Given the description of an element on the screen output the (x, y) to click on. 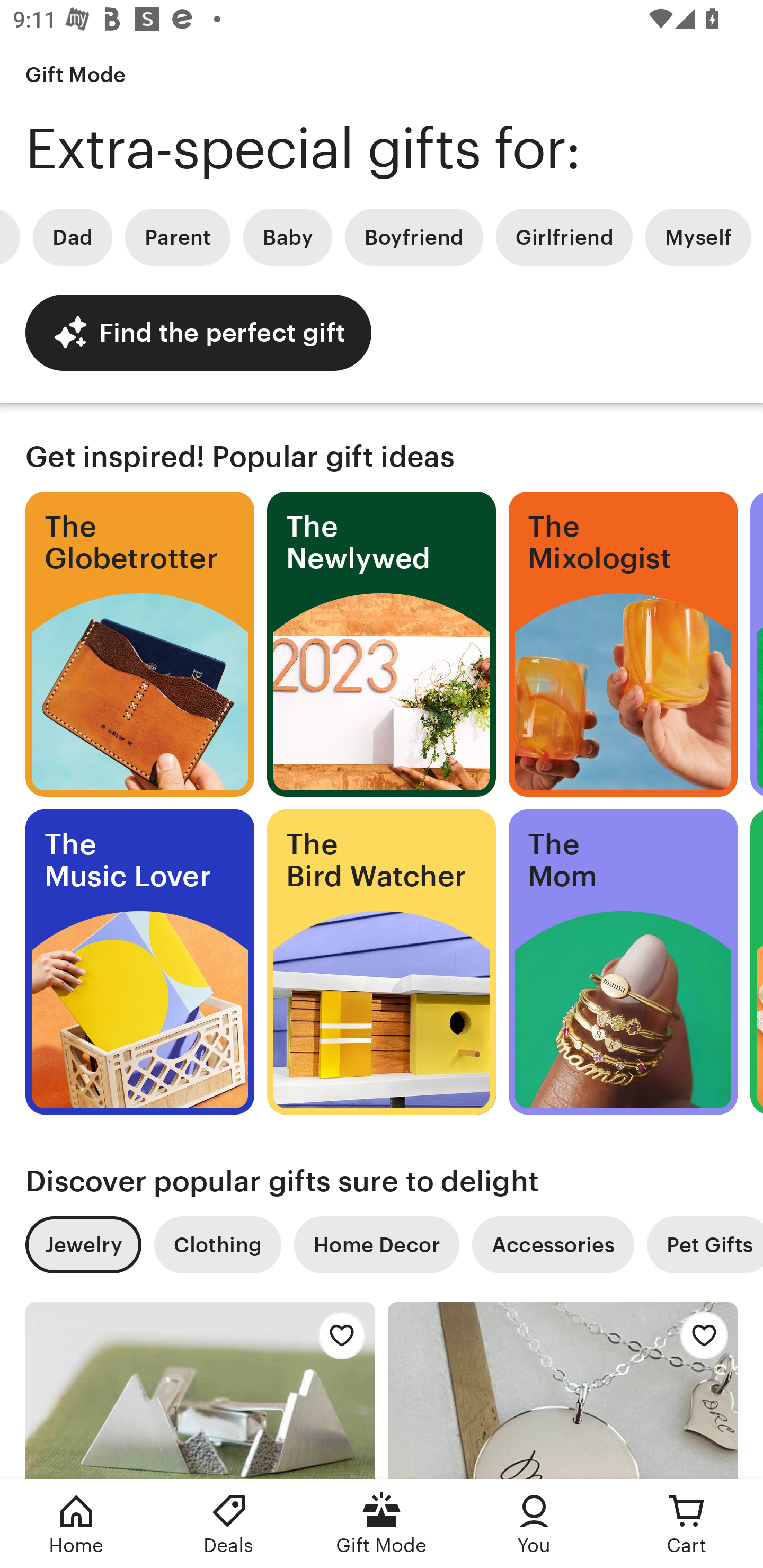
Dad (72, 237)
Parent (177, 237)
Baby (287, 237)
Boyfriend (413, 237)
Girlfriend (563, 237)
Myself (698, 237)
Find the perfect gift (198, 332)
The Globetrotter (139, 644)
The Newlywed (381, 644)
The Mixologist (622, 644)
The Music Lover (139, 961)
The Bird Watcher (381, 961)
The Mom (622, 961)
Jewelry (83, 1244)
Clothing (217, 1244)
Home Decor (376, 1244)
Accessories (553, 1244)
Pet Gifts (705, 1244)
Home (76, 1523)
Deals (228, 1523)
You (533, 1523)
Cart (686, 1523)
